Given the description of an element on the screen output the (x, y) to click on. 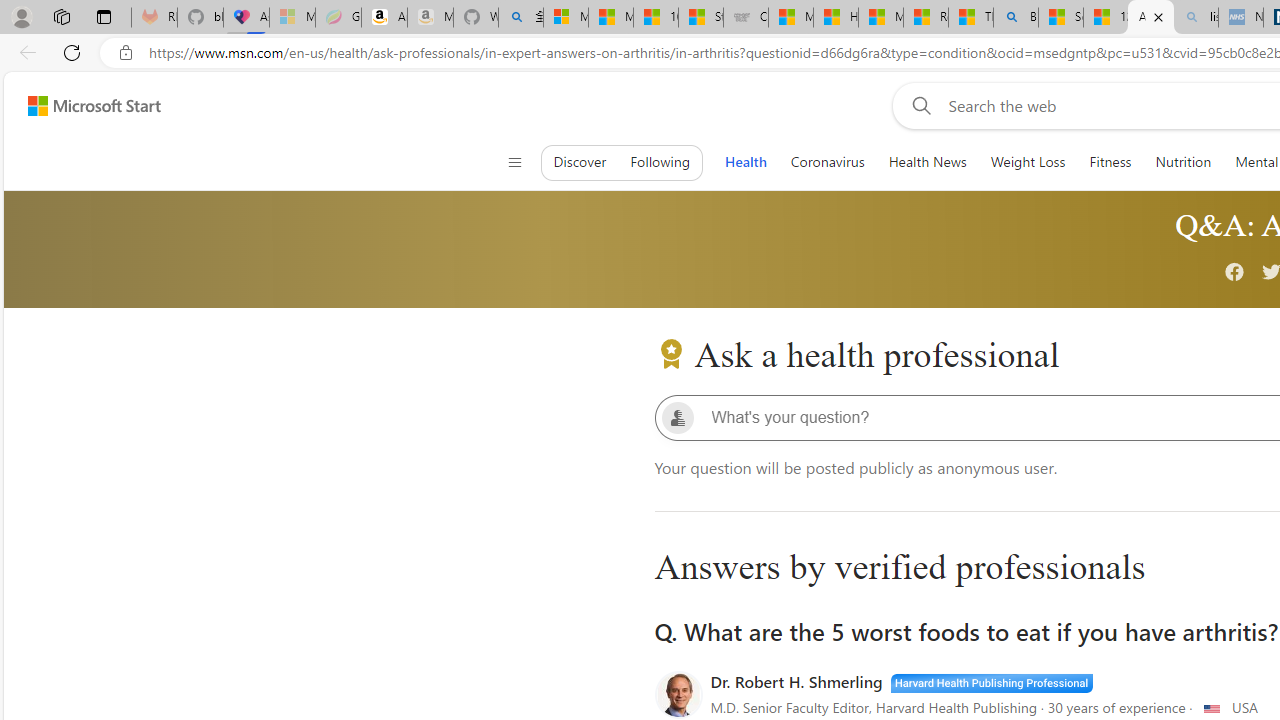
Flag image of USA (1211, 708)
Weight Loss (1027, 161)
Coronavirus (827, 161)
Fitness (1110, 162)
Asthma Inhalers: Names and Types (246, 17)
